Given the description of an element on the screen output the (x, y) to click on. 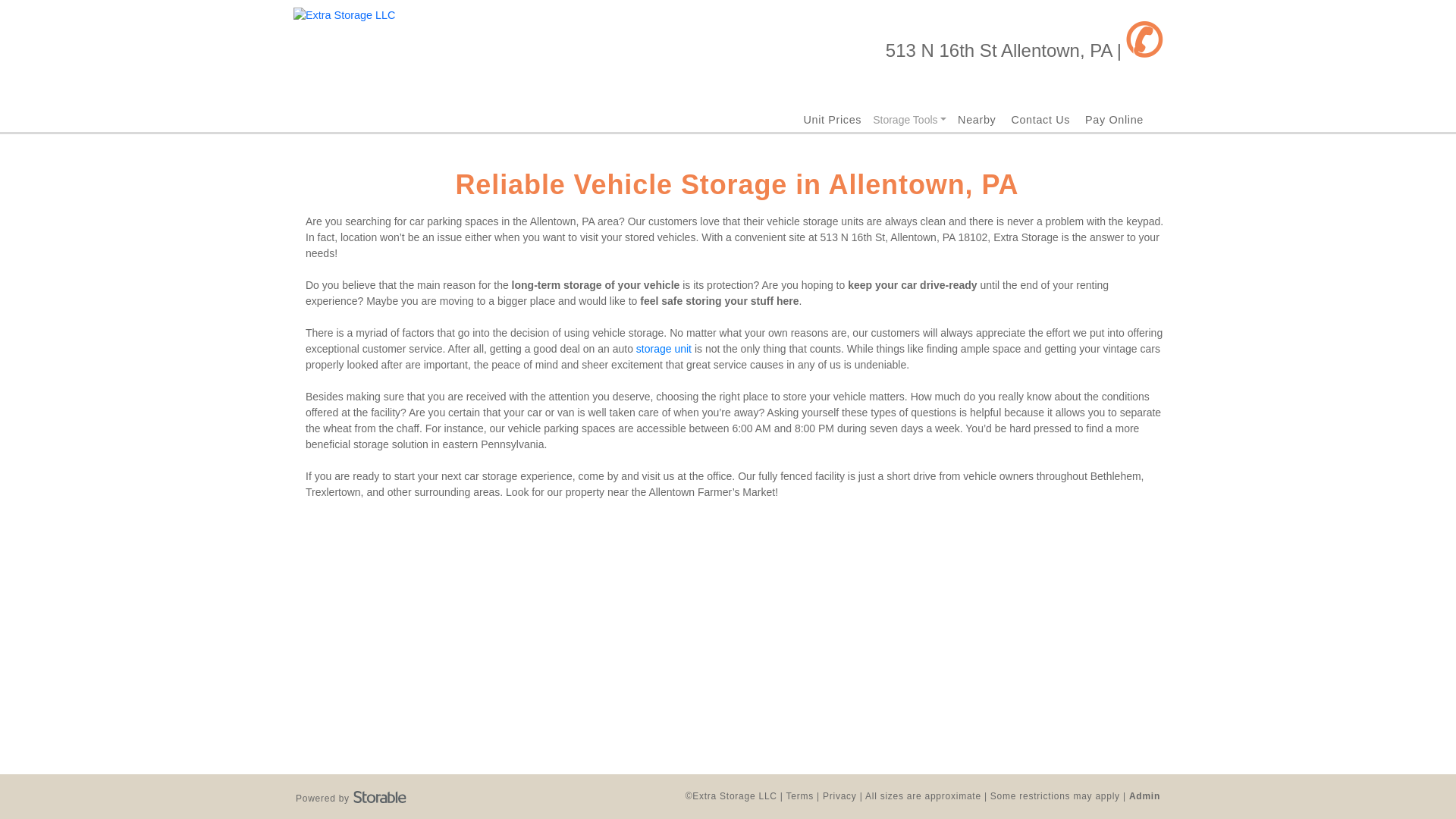
Pay Online (1113, 119)
Privacy (839, 796)
Nearby (976, 119)
Terms (799, 796)
Admin (1144, 796)
Contact Us (1040, 119)
Storage Tools (909, 119)
Powered by (350, 796)
Unit Prices (832, 119)
storage unit (663, 348)
